Given the description of an element on the screen output the (x, y) to click on. 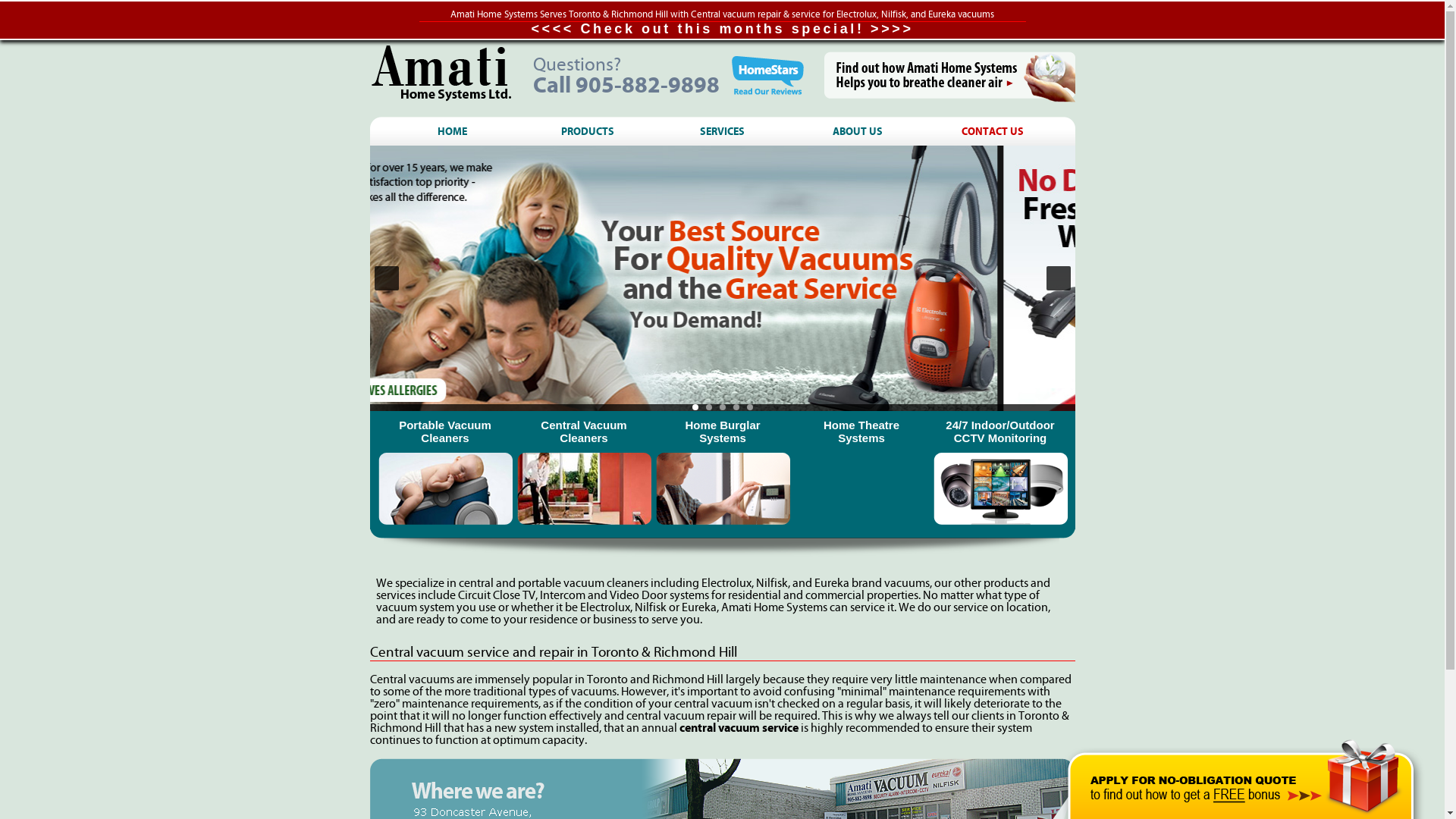
PRODUCTS Element type: text (587, 130)
Central Vacuum
Cleaners Element type: text (583, 469)
ABOUT US Element type: text (857, 130)
Amati Home Systems Element type: text (445, 73)
24/7 Indoor/Outdoor
CCTV Monitoring Element type: text (1000, 469)
HomeStars Review Our Work Element type: hover (765, 75)
Portable Vacuum Cleaners Element type: text (445, 469)
CONTACT US Element type: text (992, 130)
HOME Element type: text (452, 130)
SERVICES Element type: text (722, 130)
<<<< Check out this months special! >>>> Element type: text (721, 28)
Home Theatre
Systems Element type: text (860, 469)
Home Burglar
Systems Element type: text (722, 469)
